Given the description of an element on the screen output the (x, y) to click on. 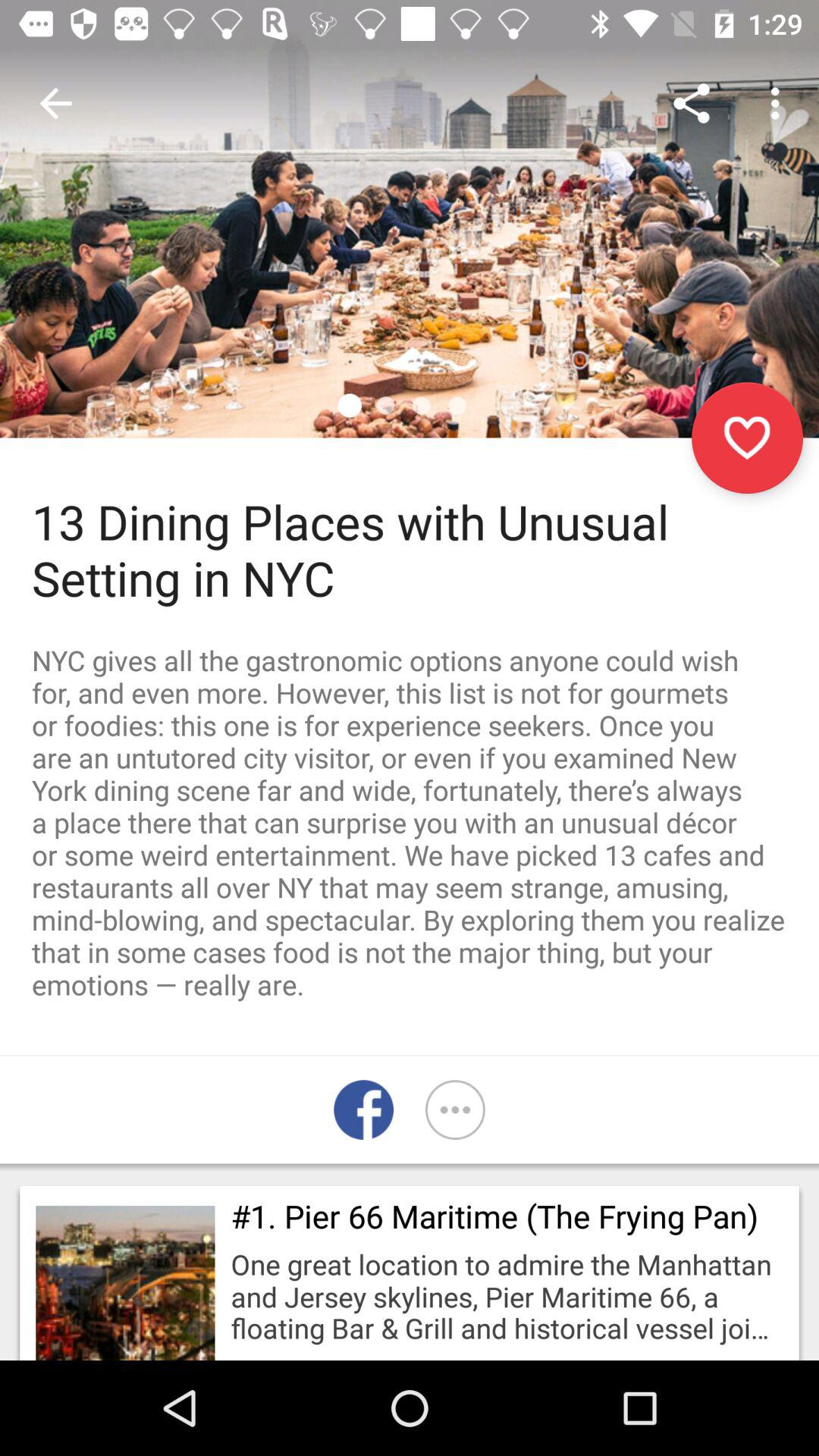
turn off the app above nyc gives all app (747, 437)
